Given the description of an element on the screen output the (x, y) to click on. 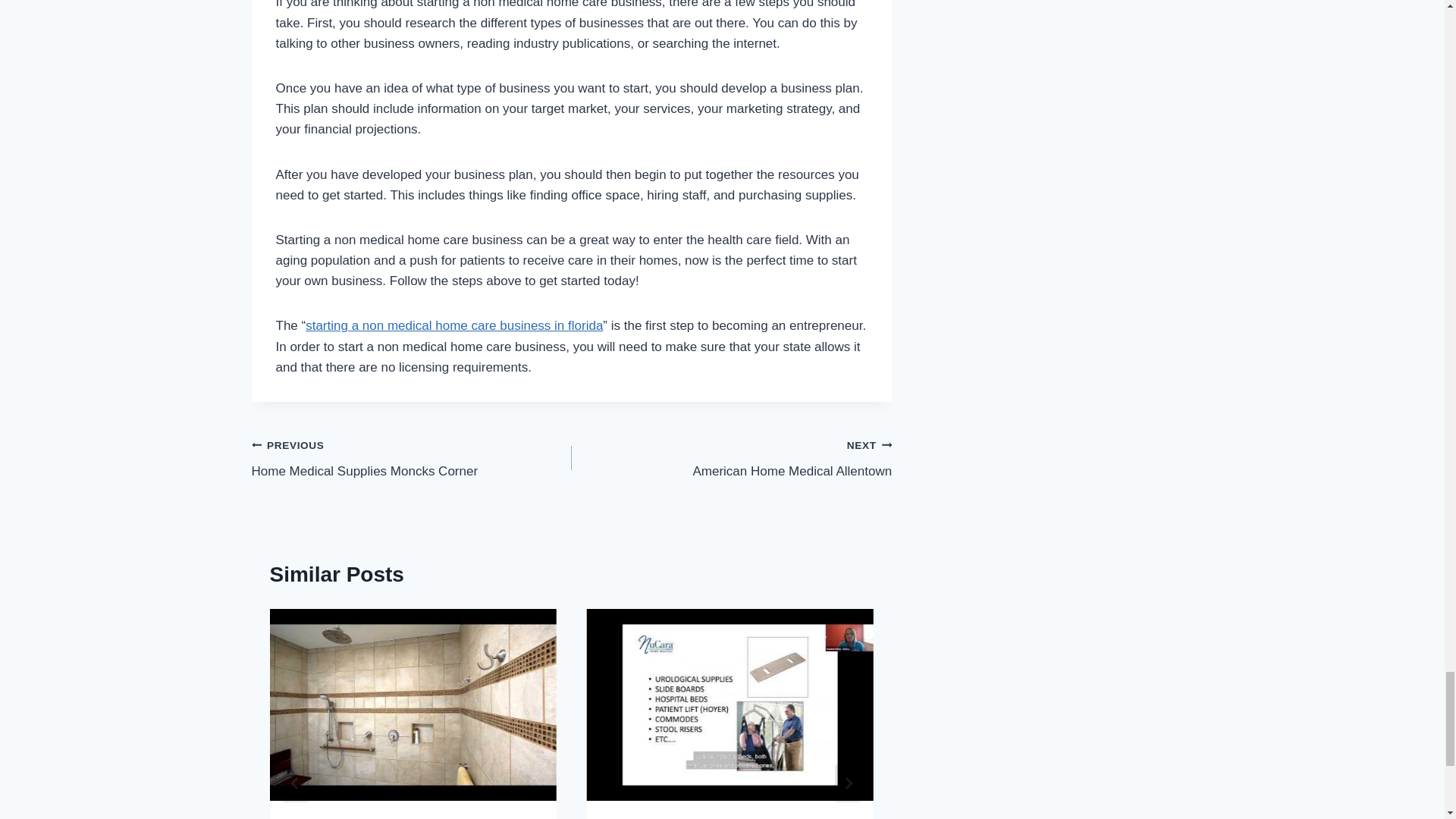
starting a non medical home care business in florida (453, 325)
